Given the description of an element on the screen output the (x, y) to click on. 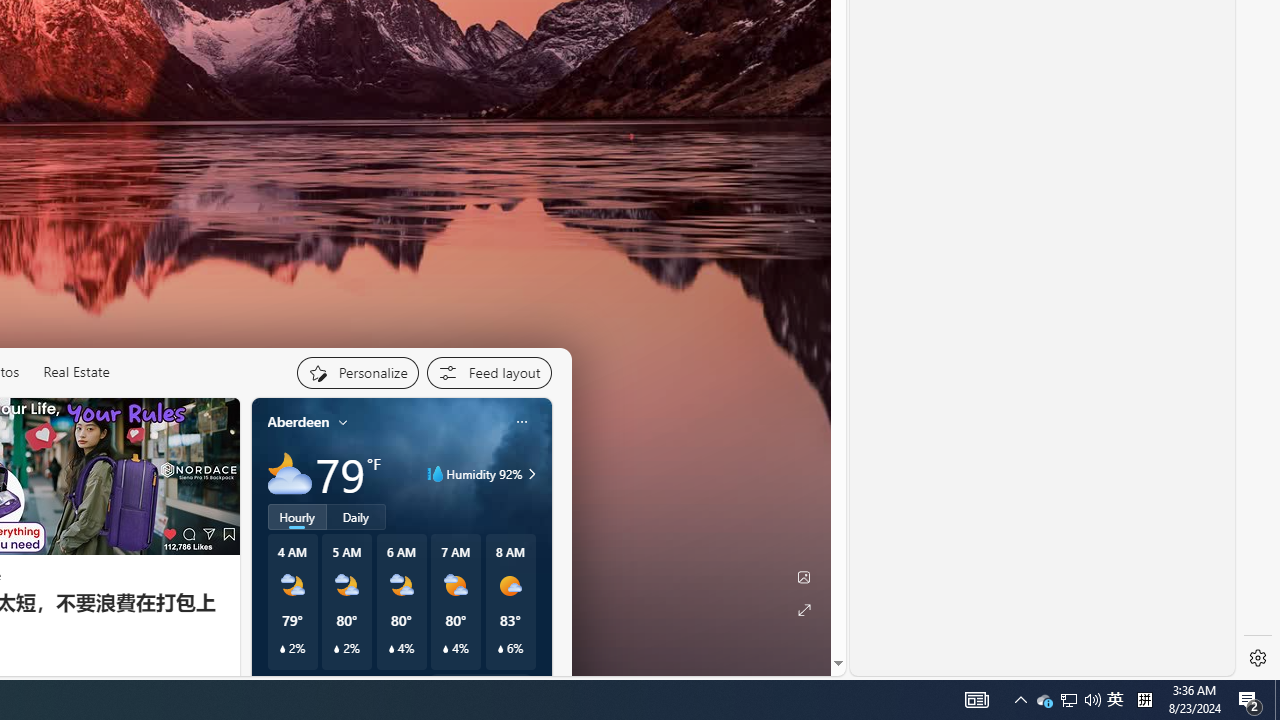
Expand background (803, 610)
Feed settings (488, 372)
See full forecast (480, 685)
Class: weather-arrow-glyph (531, 474)
Class: weather-current-precipitation-glyph (500, 649)
Real Estate (76, 371)
Class: icon-img (521, 421)
Aberdeen (298, 422)
Humidity 92% (529, 474)
